Given the description of an element on the screen output the (x, y) to click on. 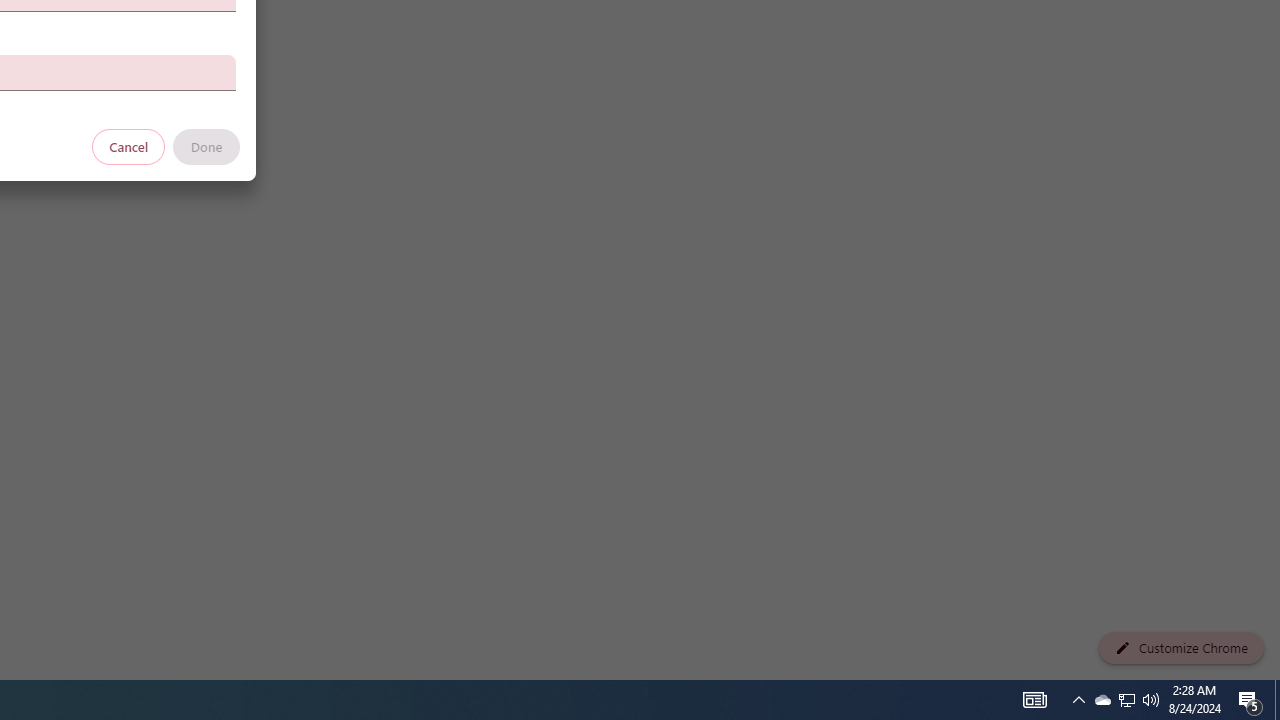
Cancel (129, 146)
Done (206, 146)
